Given the description of an element on the screen output the (x, y) to click on. 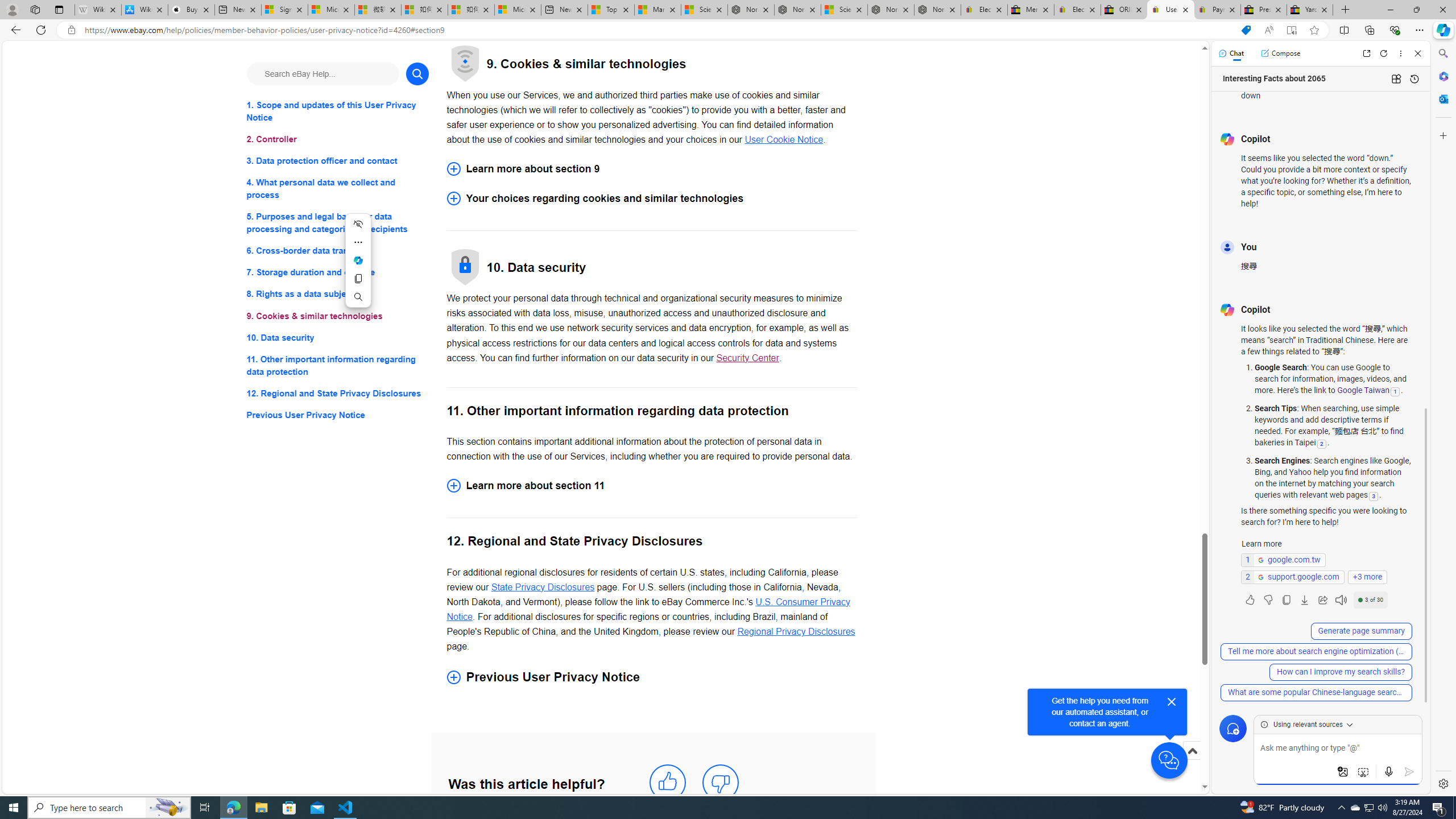
Microsoft account | Account Checkup (517, 9)
User Cookie Notice (784, 139)
8. Rights as a data subject (337, 293)
Previous User Privacy Notice (337, 414)
12. Regional and State Privacy Disclosures (337, 392)
Yard, Garden & Outdoor Living (1309, 9)
11. Other important information regarding data protection (337, 365)
